Given the description of an element on the screen output the (x, y) to click on. 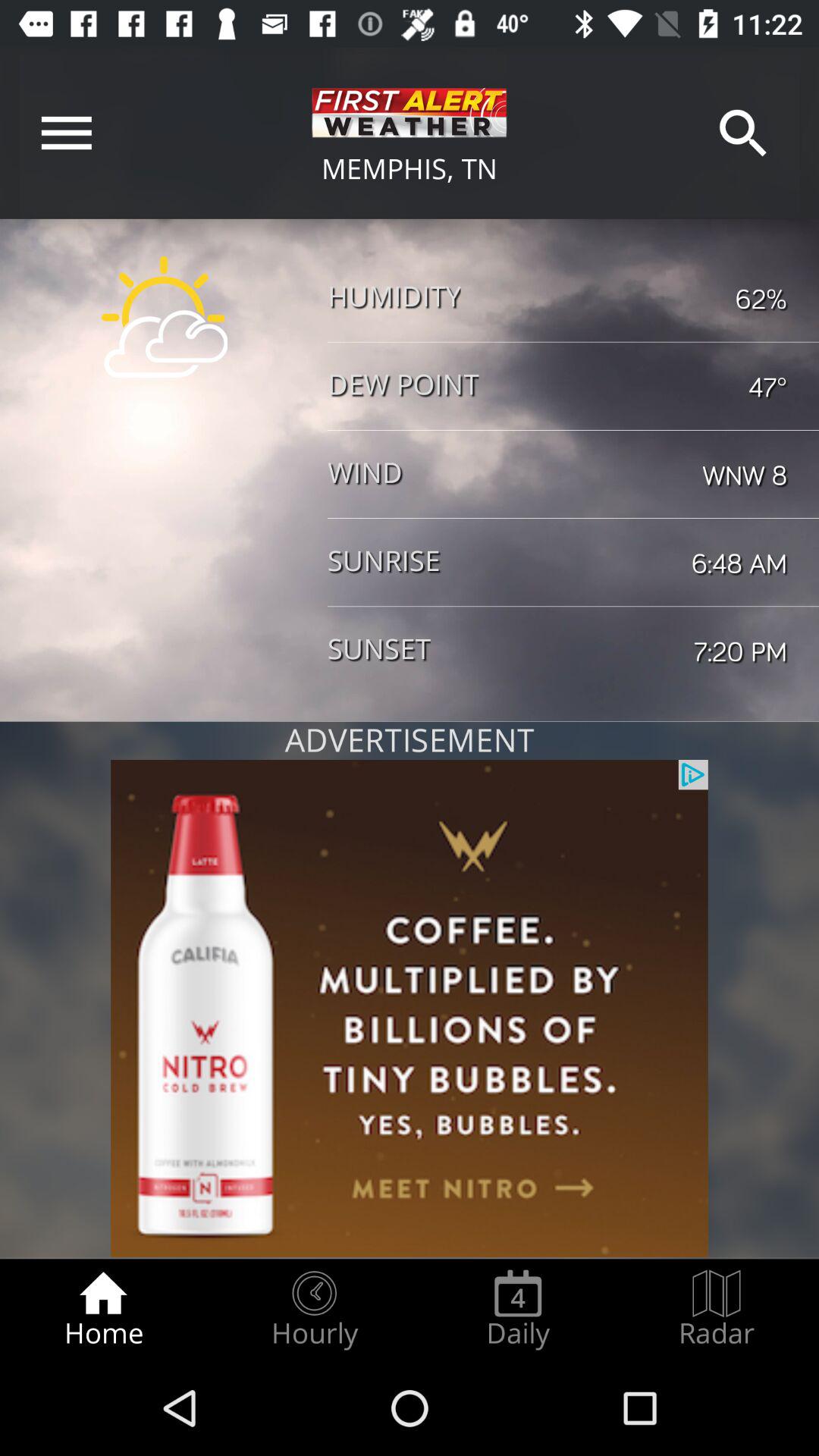
advertisement (409, 1008)
